Given the description of an element on the screen output the (x, y) to click on. 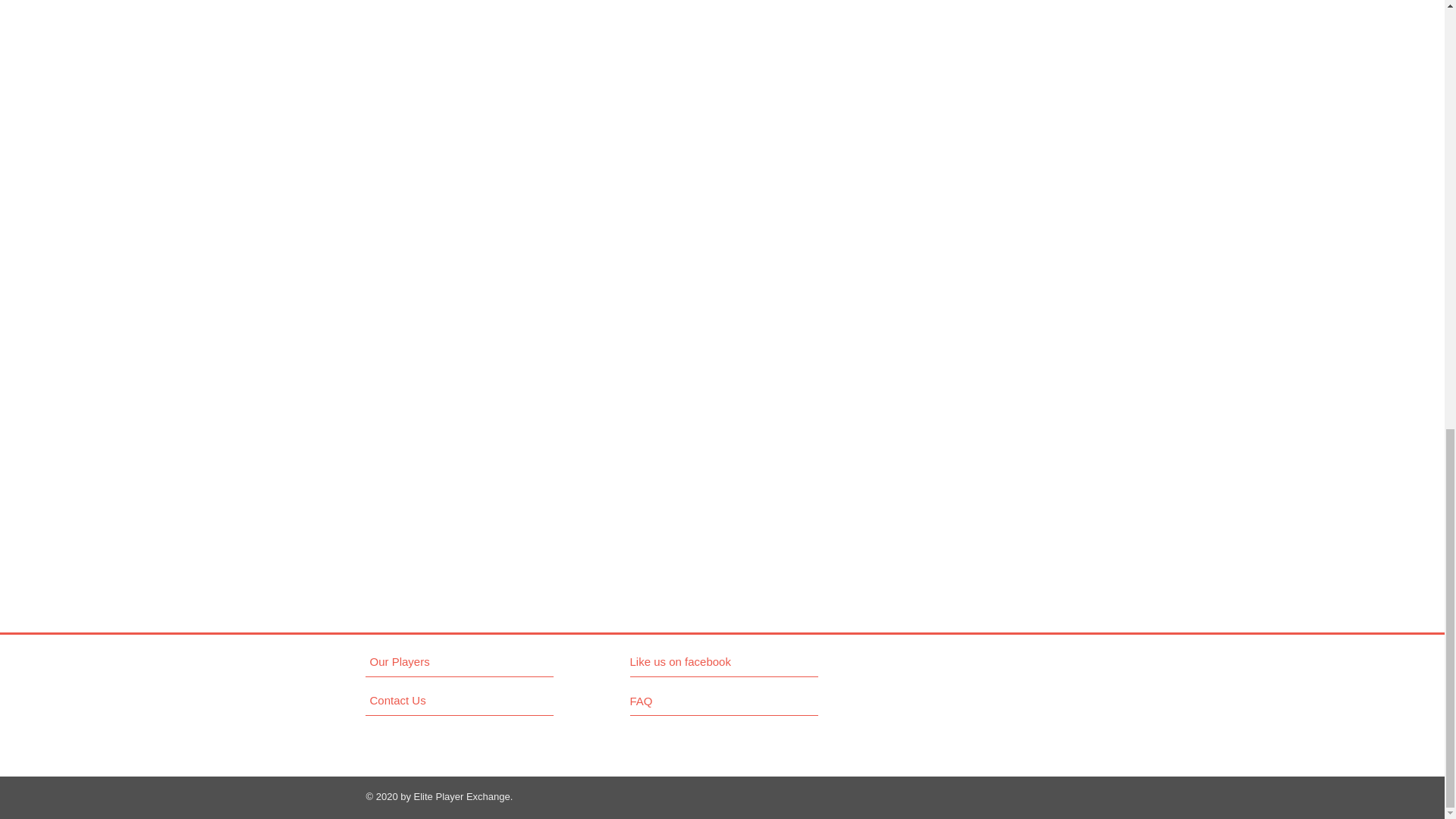
Our Players (426, 661)
Like us on facebook (696, 661)
Contact Us (426, 700)
FAQ (672, 700)
